Given the description of an element on the screen output the (x, y) to click on. 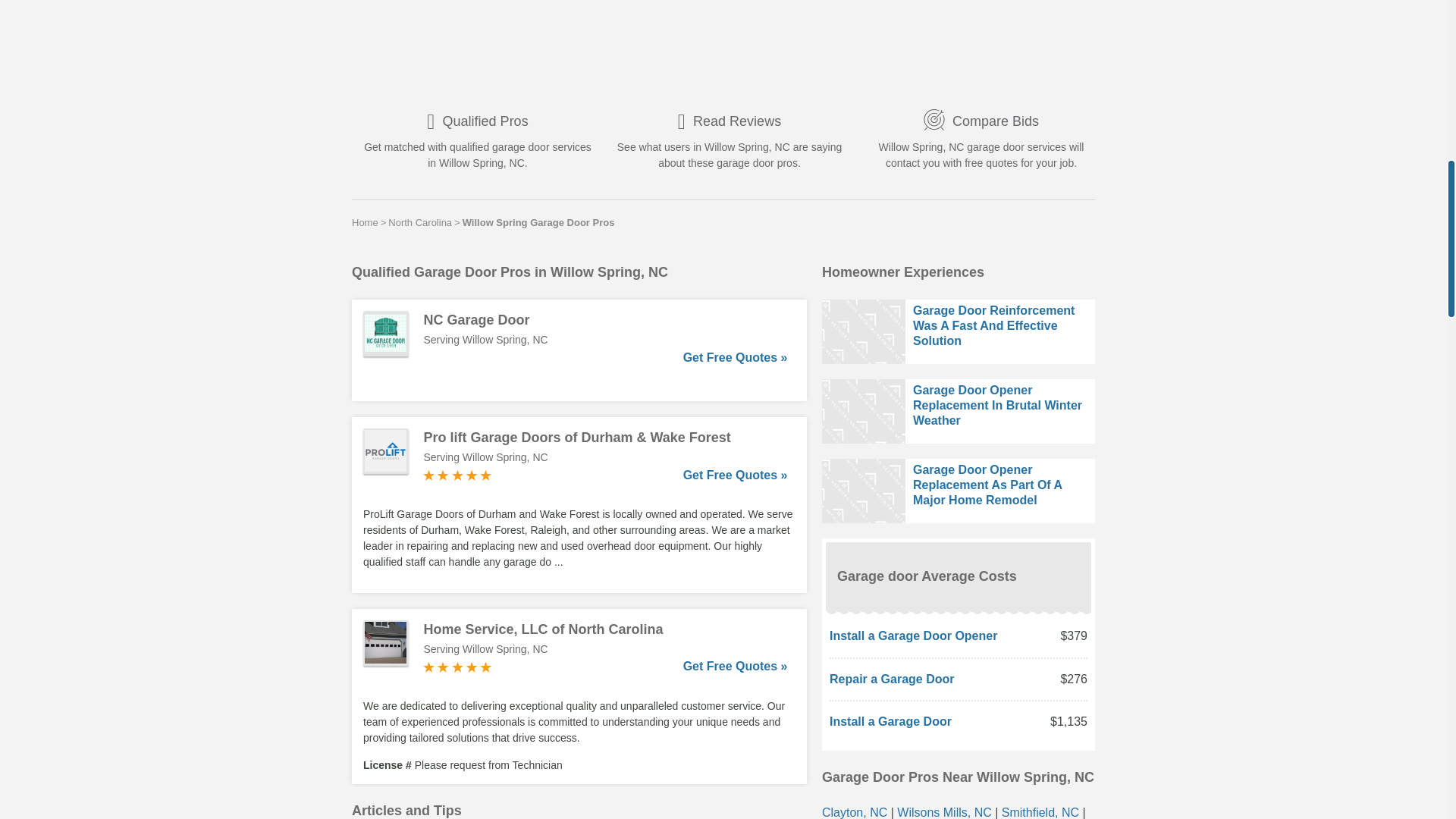
5 star rating (457, 667)
North Carolina (419, 222)
NC Garage Door (605, 320)
Home (365, 222)
5 star rating (457, 475)
